Given the description of an element on the screen output the (x, y) to click on. 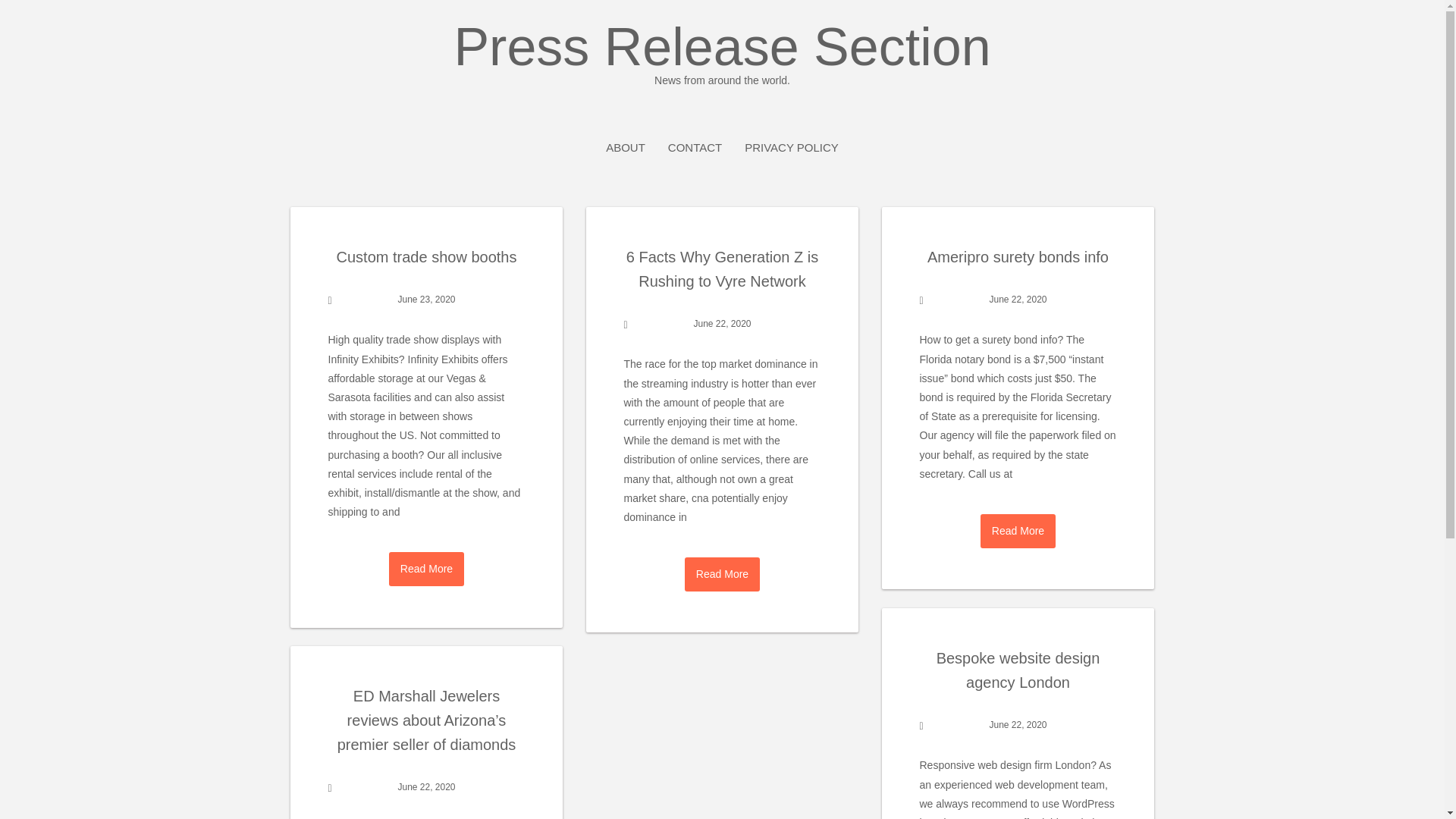
Read More (1017, 530)
Read More (722, 574)
CONTACT (695, 147)
Ameripro surety bonds info (1017, 256)
Read More (425, 569)
Read More (1017, 530)
ABOUT (625, 147)
Press Release Section (721, 53)
6 Facts Why Generation Z is Rushing to Vyre Network (722, 268)
PRIVACY POLICY (791, 147)
